Given the description of an element on the screen output the (x, y) to click on. 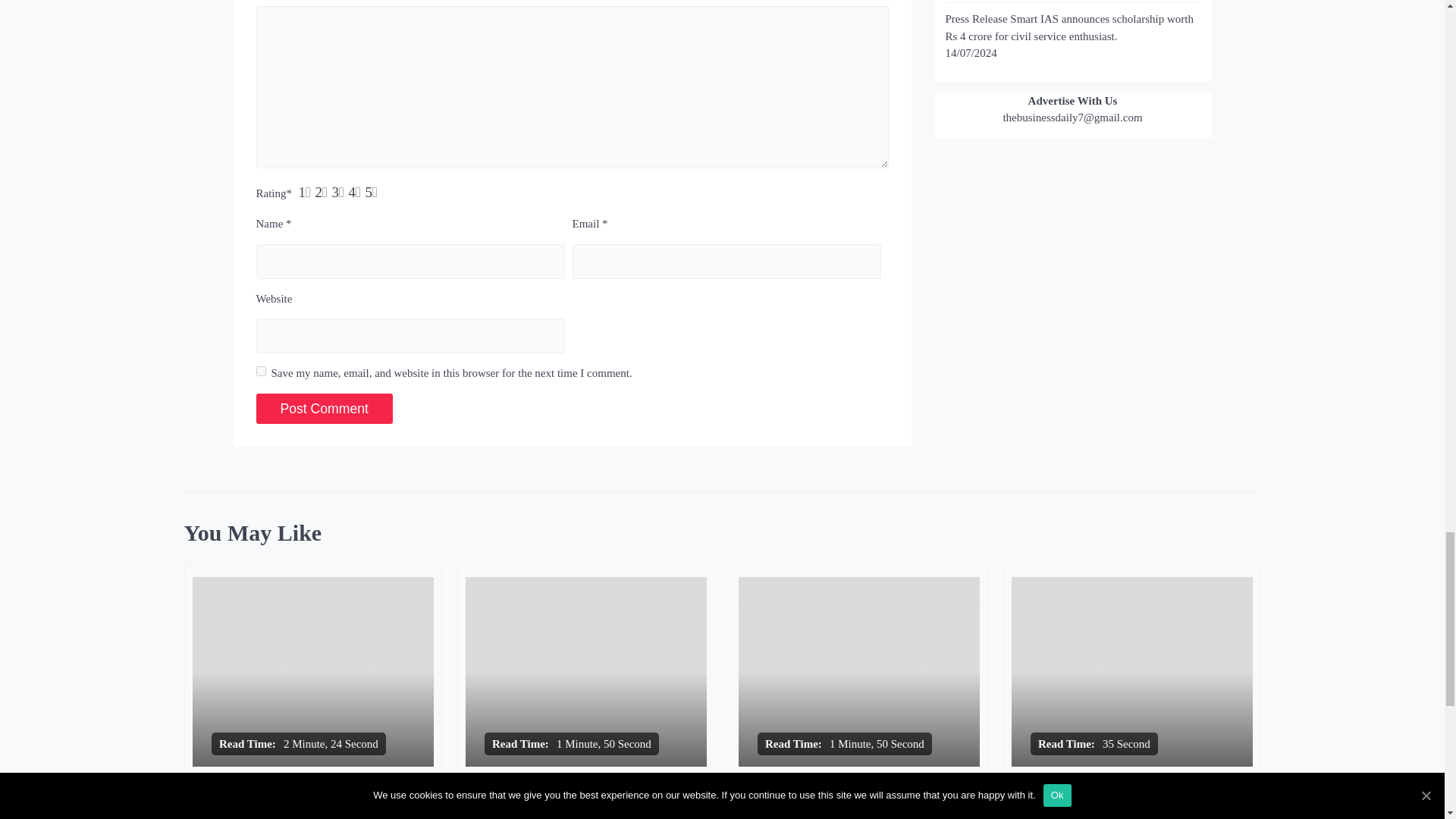
Post Comment (324, 408)
yes (261, 370)
